Given the description of an element on the screen output the (x, y) to click on. 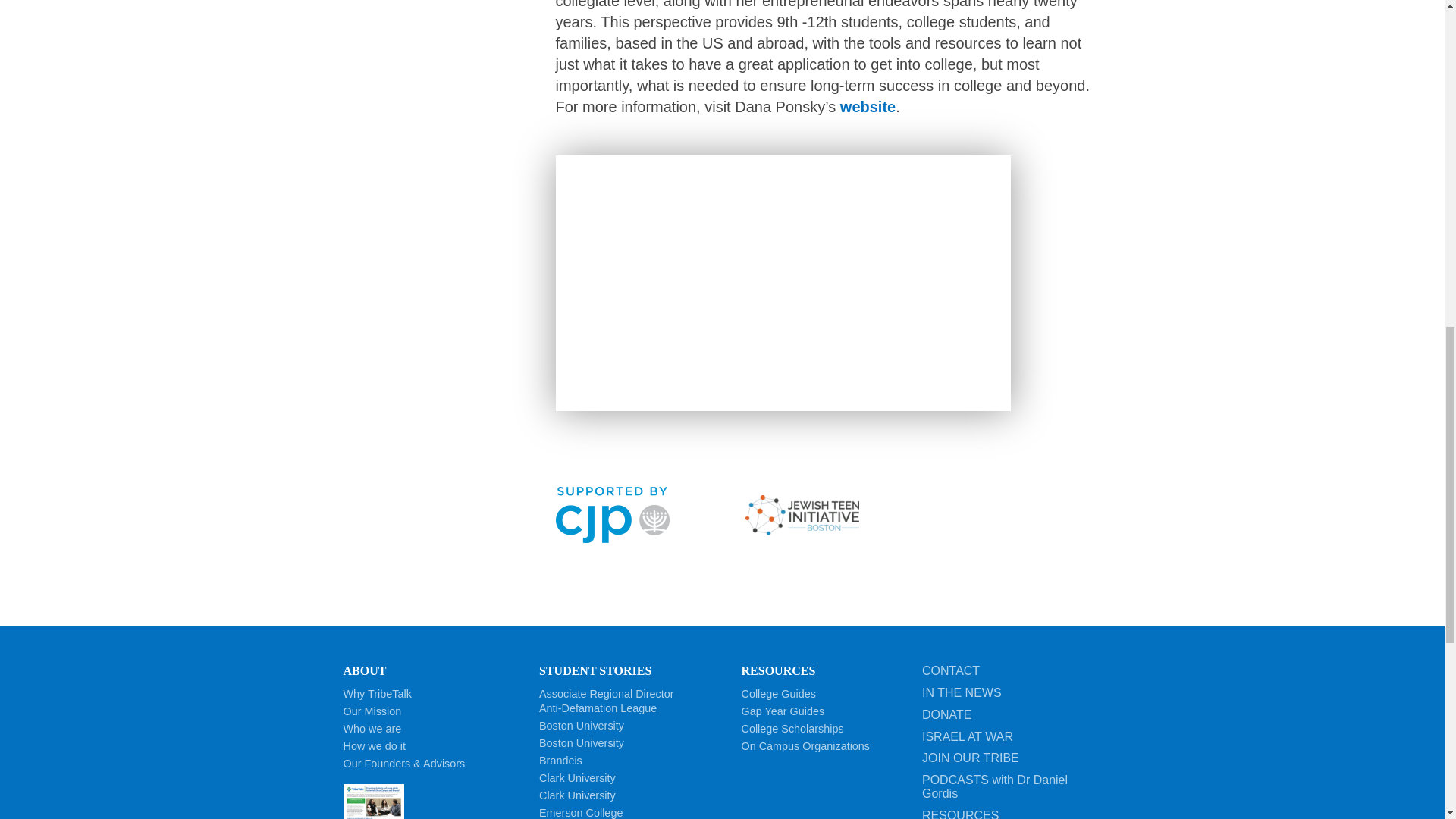
Why TribeTalk (376, 693)
ABOUT (363, 670)
How we do it (373, 746)
Boston University (581, 725)
Who we are (371, 728)
Our Mission (371, 711)
STUDENT STORIES (606, 700)
TribeTalk Searching for College through a Jewish lens (594, 670)
DOWNLOAD OUR FLYER (782, 283)
website (434, 801)
